Given the description of an element on the screen output the (x, y) to click on. 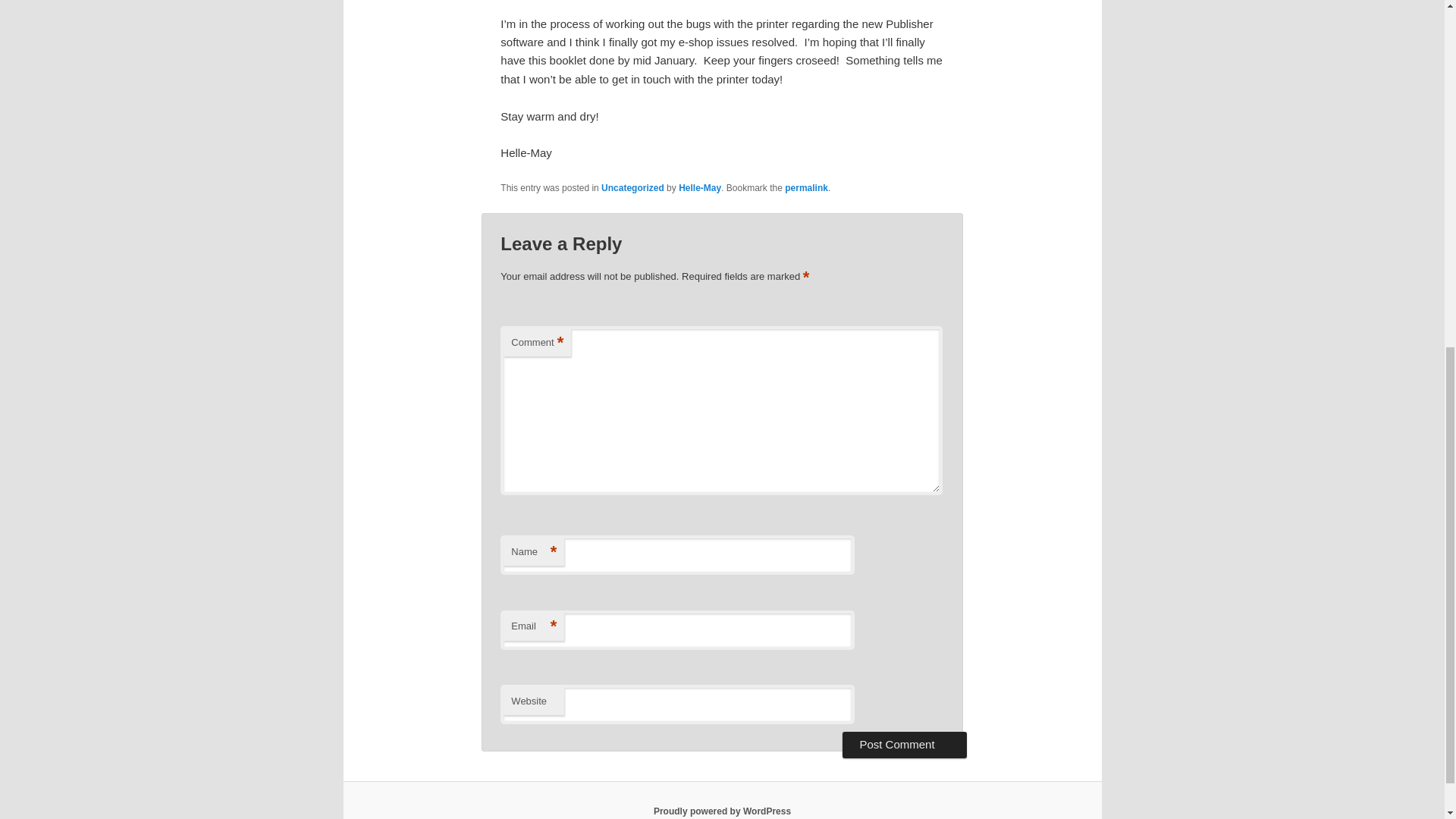
Proudly powered by WordPress (721, 810)
Uncategorized (632, 187)
Semantic Personal Publishing Platform (721, 810)
Post Comment (904, 744)
permalink (806, 187)
Helle-May (699, 187)
Post Comment (904, 744)
Permalink to Winter is here! (806, 187)
